Given the description of an element on the screen output the (x, y) to click on. 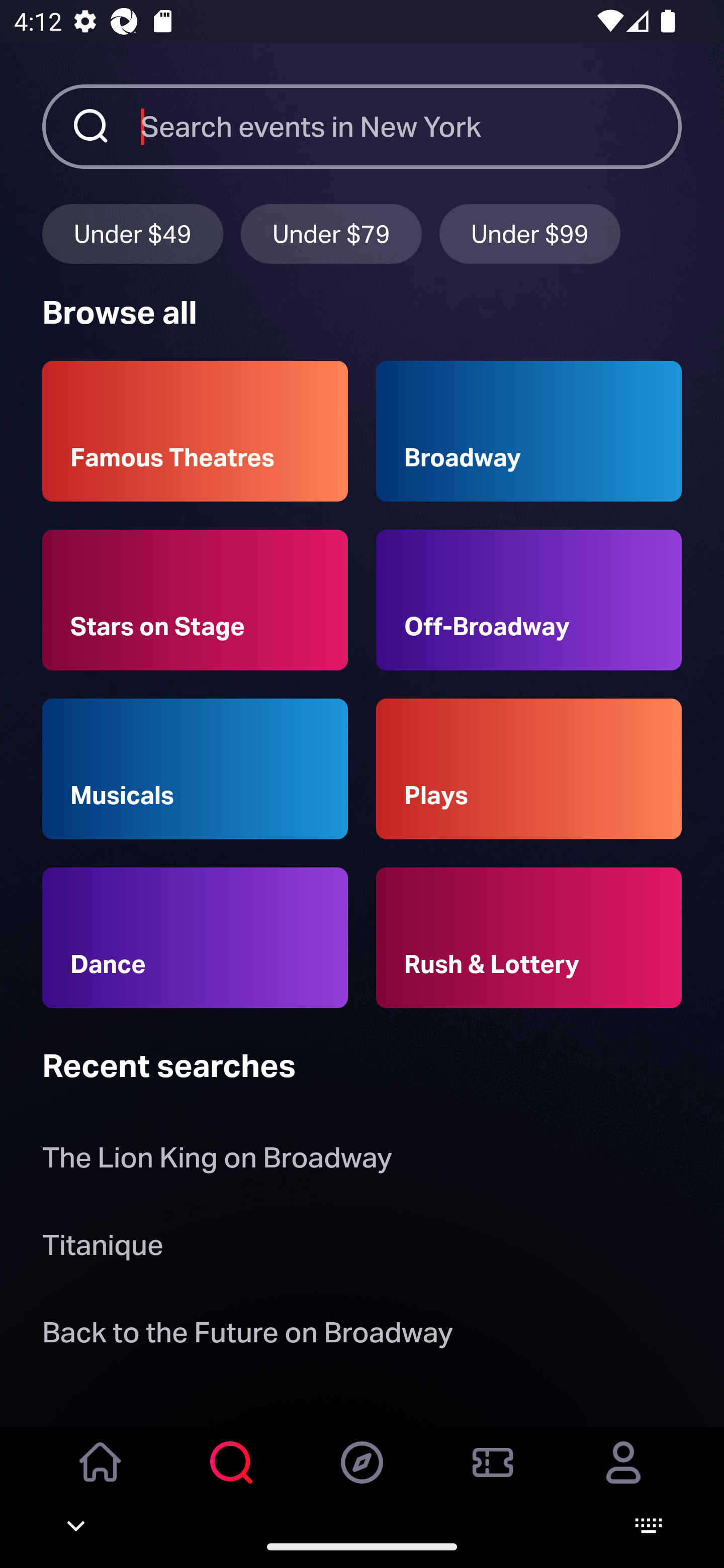
Search events in New York (411, 126)
Under $49 (131, 233)
Under $79 (331, 233)
Under $99 (529, 233)
Famous Theatres (194, 430)
Broadway (528, 430)
Stars on Stage (194, 600)
Off-Broadway (528, 600)
Musicals (194, 768)
Plays (528, 768)
Dance (194, 937)
Rush & Lottery (528, 937)
The Lion King on Broadway (216, 1161)
Titanique (102, 1248)
Back to the Future on Broadway (247, 1335)
Home (100, 1475)
Discover (361, 1475)
Orders (492, 1475)
Account (623, 1475)
